Given the description of an element on the screen output the (x, y) to click on. 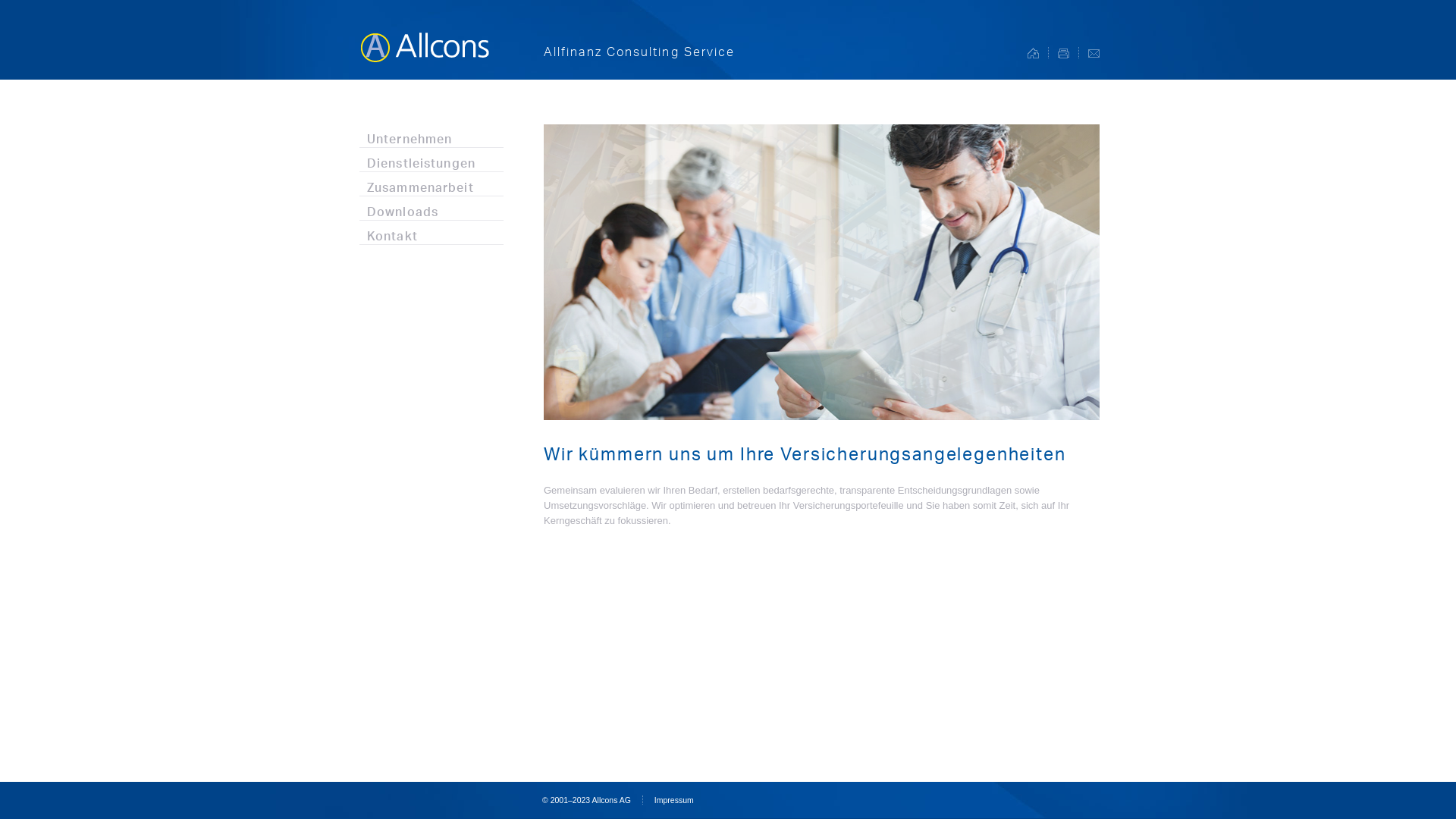
Dienstleistungen Element type: text (431, 159)
Downloads Element type: text (431, 207)
Kontakt Element type: text (431, 232)
Unternehmen Element type: text (431, 135)
Zusammenarbeit Element type: text (431, 183)
Impressum Element type: text (673, 799)
Allcons AG Element type: text (423, 39)
